Given the description of an element on the screen output the (x, y) to click on. 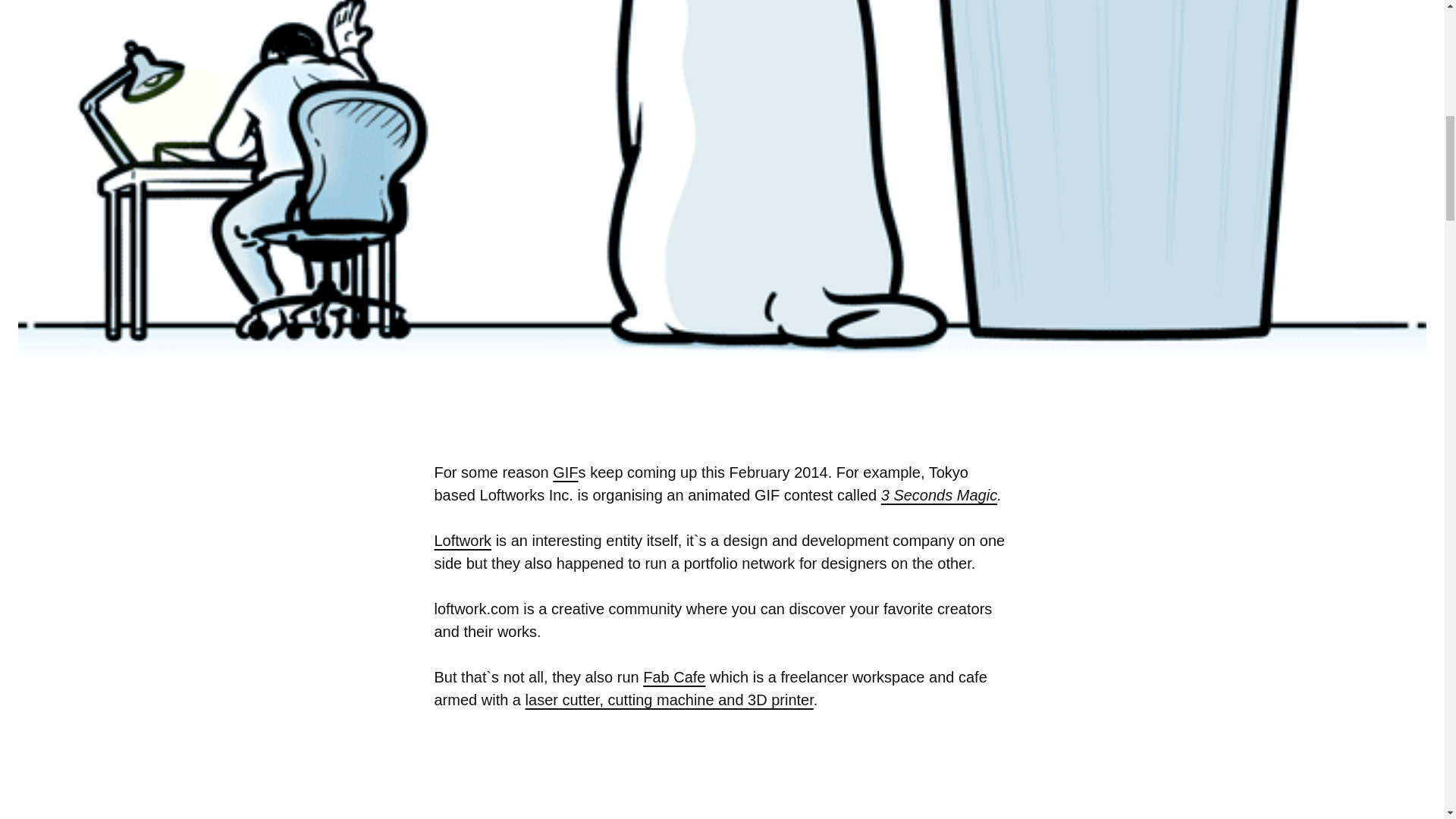
Loftwork (462, 540)
GIF (565, 472)
laser cutter, cutting machine and 3D printer (669, 699)
3 Seconds Magic (938, 494)
Fab Cafe (673, 677)
fabcafe04Mar (721, 776)
Fab Cafe Tokyo (673, 677)
